Given the description of an element on the screen output the (x, y) to click on. 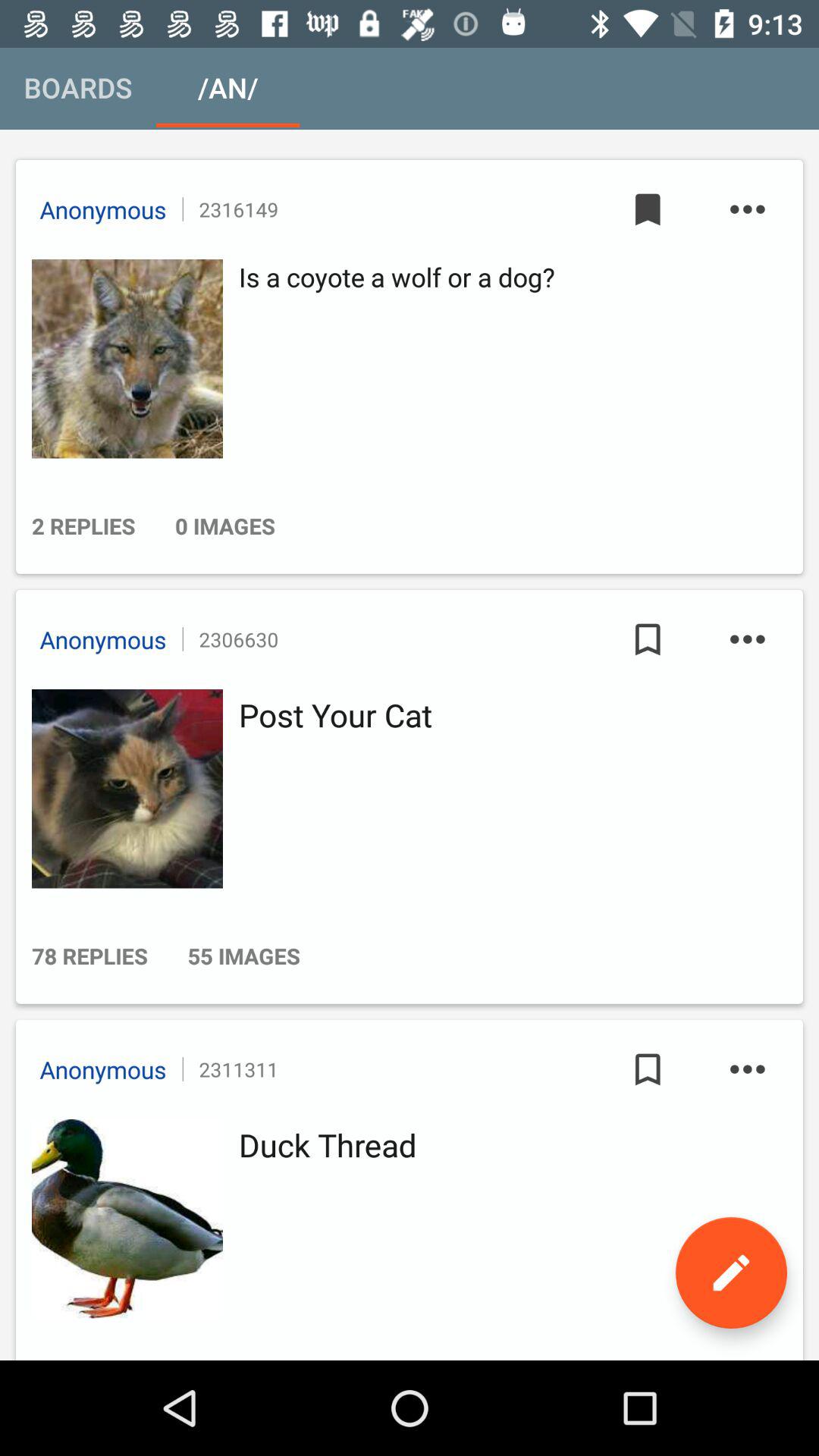
he can activate the simple voice command (122, 1218)
